Given the description of an element on the screen output the (x, y) to click on. 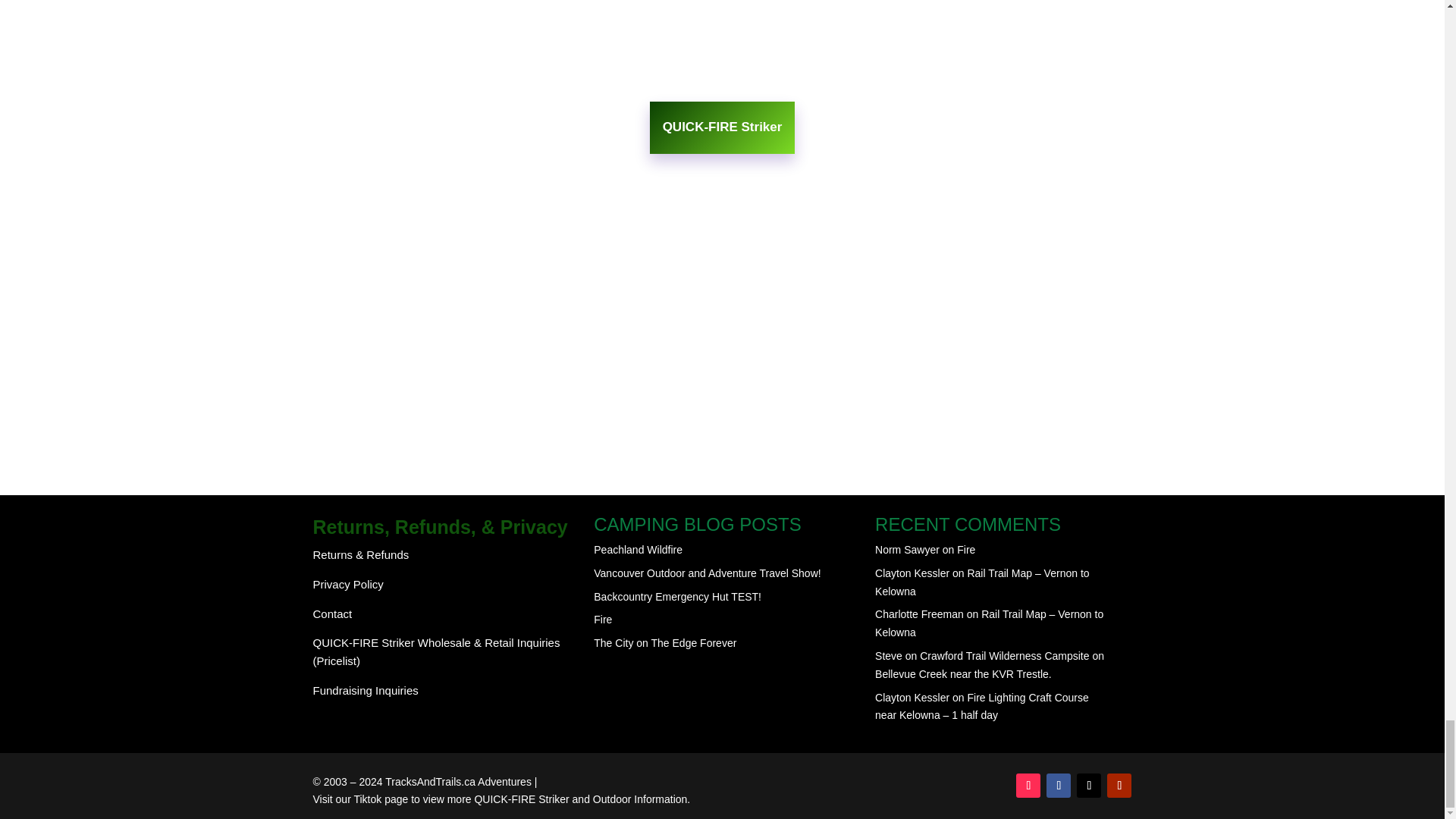
Contact us and find how we can donate to your organization. (365, 689)
Contact The Tracks And Trails Team (332, 613)
How To Light A Fire With No Matches (367, 799)
TracksAndTrails.ca Adventures Product Refunds (361, 554)
Get QUICK-FIRE Strikers for your store! (436, 651)
